Given the description of an element on the screen output the (x, y) to click on. 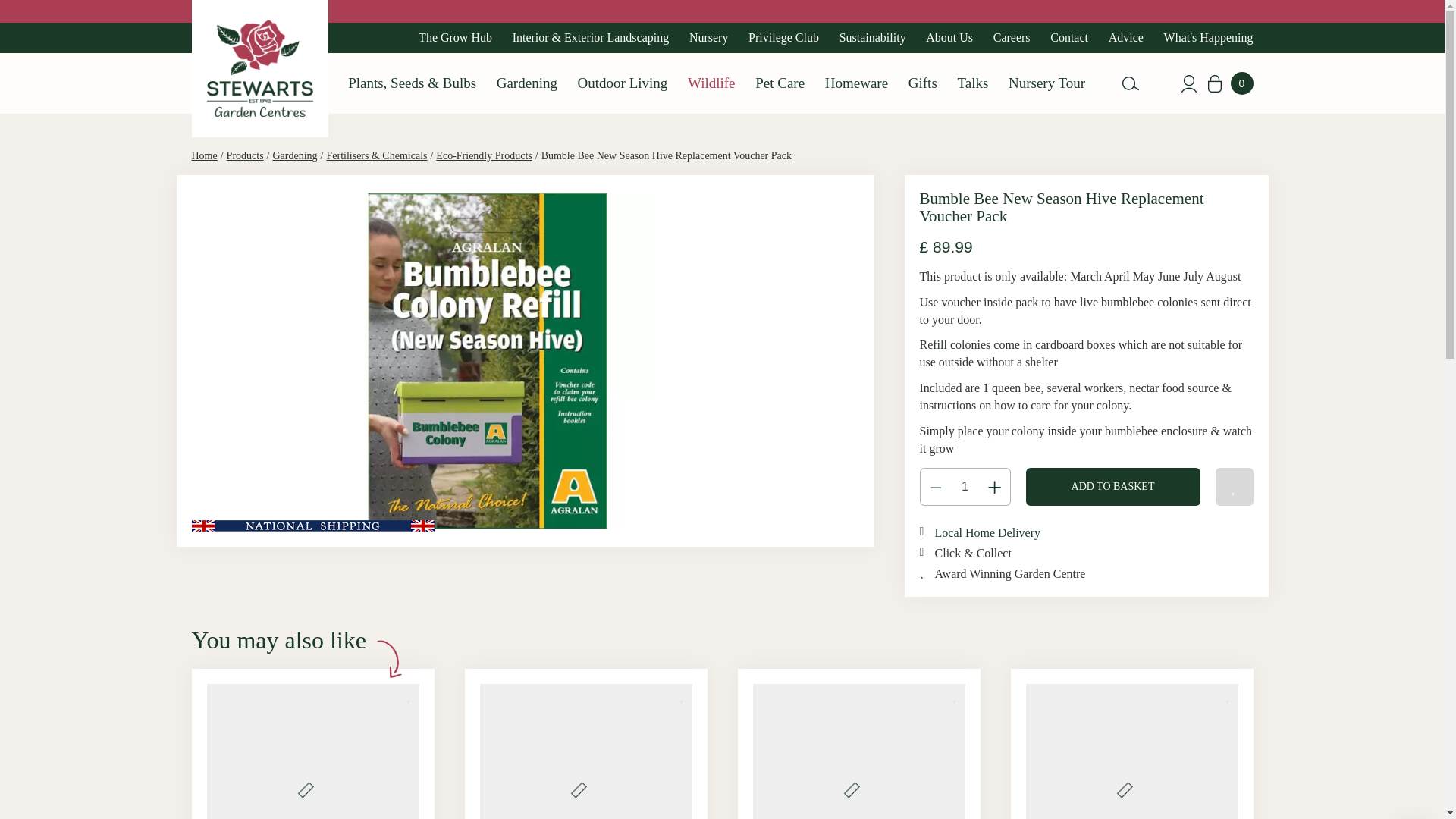
Products (245, 155)
1 (964, 486)
Add to basket (1112, 486)
Home (203, 155)
Gardening (295, 155)
Eco-Friendly Products (483, 155)
